Given the description of an element on the screen output the (x, y) to click on. 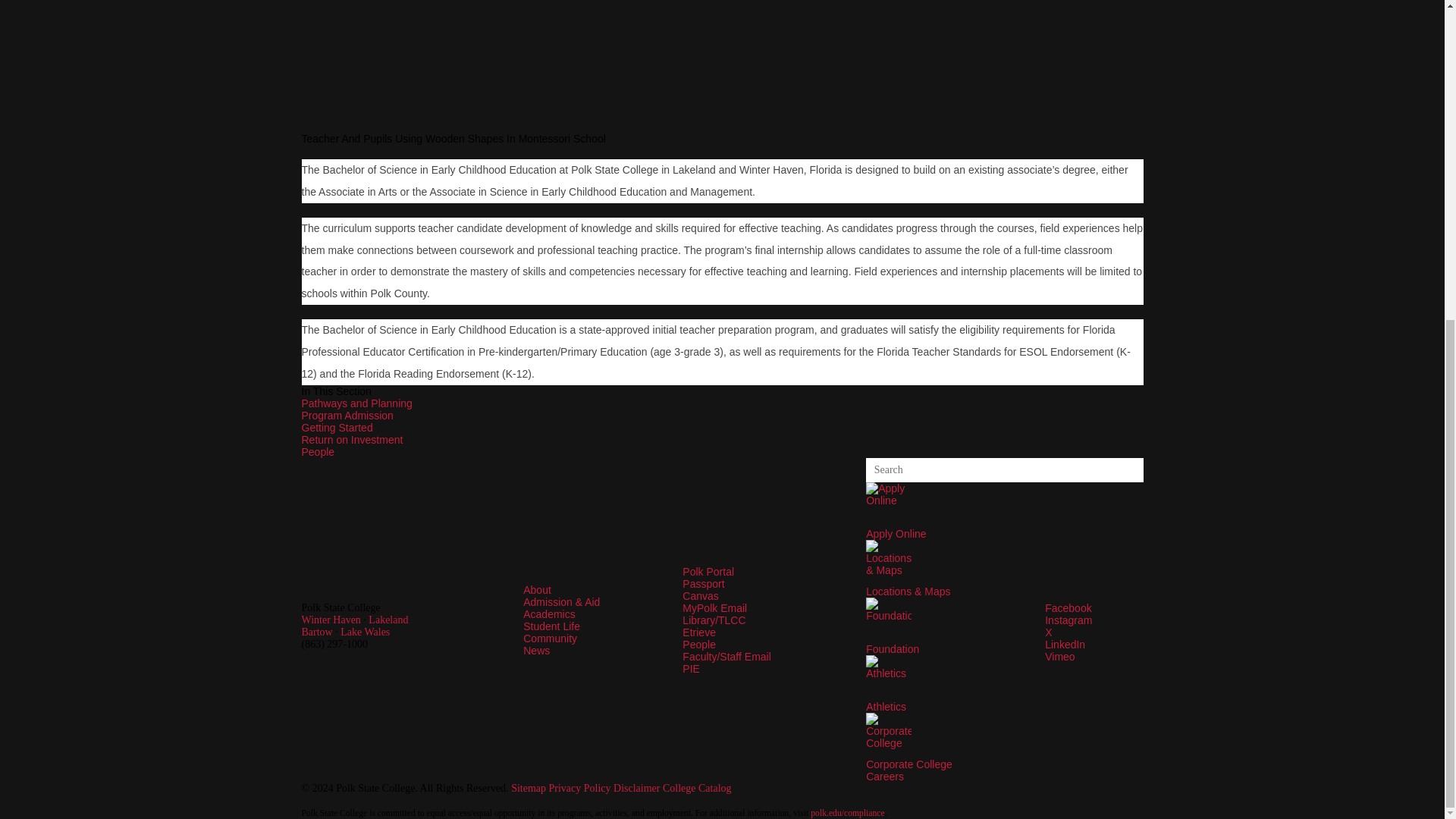
Return on Investment (352, 439)
People (317, 451)
About Polk (536, 589)
Search (1130, 469)
Bartow (317, 632)
Apply Online (888, 504)
Polk State College (412, 595)
Getting Started (336, 427)
Athletics (888, 678)
Library Information (713, 620)
